Given the description of an element on the screen output the (x, y) to click on. 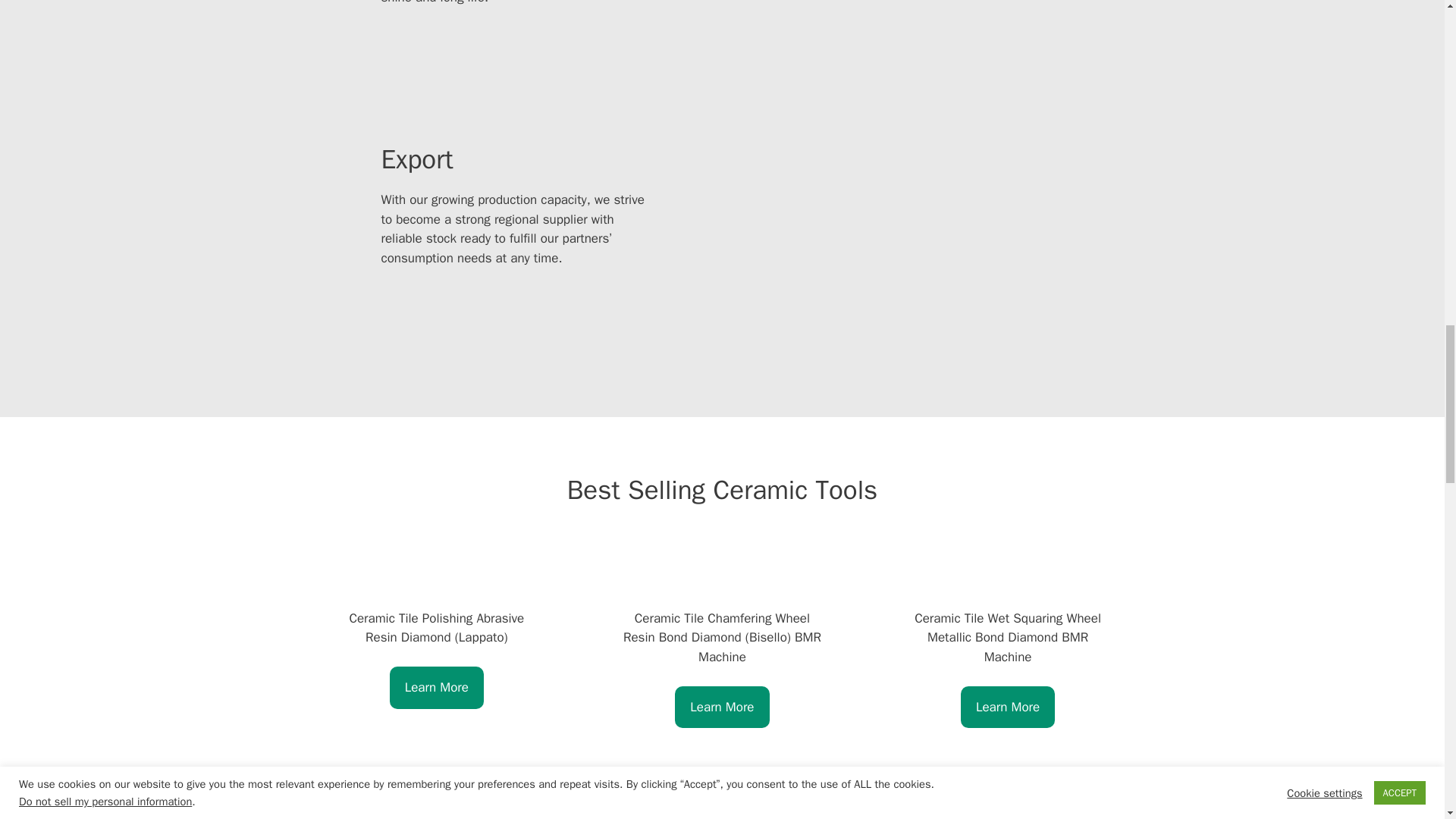
Learn More (436, 687)
Learn More (721, 706)
Learn More (1007, 706)
